Given the description of an element on the screen output the (x, y) to click on. 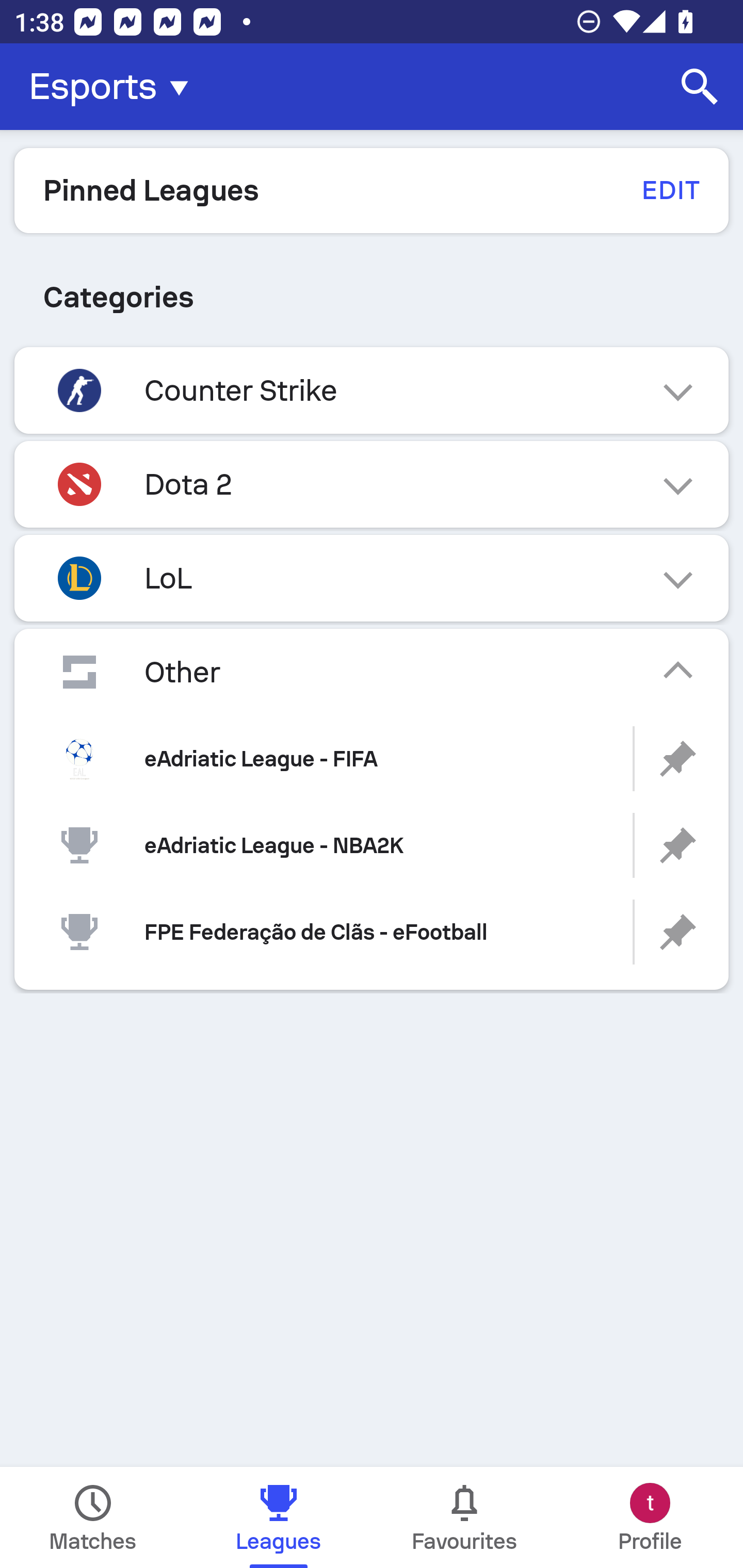
Esports (114, 86)
Search (699, 86)
Pinned Leagues EDIT (371, 190)
EDIT (670, 190)
Categories (371, 296)
Counter Strike (371, 390)
Dota 2 (371, 484)
LoL (371, 577)
Other (371, 671)
eAdriatic League - FIFA (371, 758)
eAdriatic League - NBA2K (371, 845)
FPE Federação de Clãs - eFootball (371, 932)
Matches (92, 1517)
Favourites (464, 1517)
Profile (650, 1517)
